Given the description of an element on the screen output the (x, y) to click on. 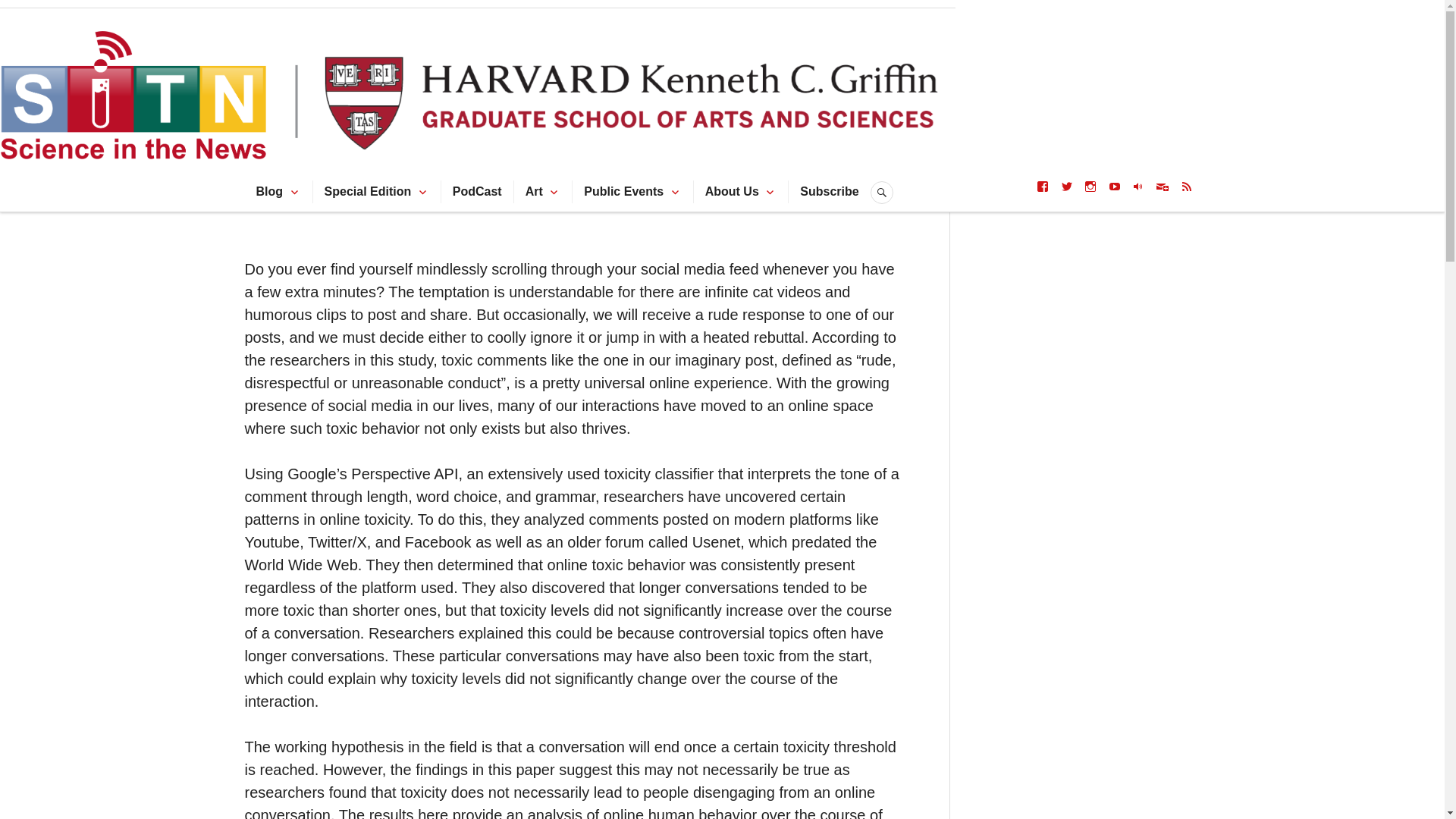
SITN Mailing List (1162, 186)
Science in the News (491, 29)
PodCast (477, 191)
SITN Website RSS Feed (1185, 186)
SITN Lecture YouTube Channel (1114, 186)
SITN Facebook Page (1042, 186)
Special Edition (368, 191)
Blog (269, 191)
SITN Instagram Page (1090, 186)
SITN Podcast SoundCloud Channel (1138, 186)
SITN Twitter Feed (1067, 186)
